Given the description of an element on the screen output the (x, y) to click on. 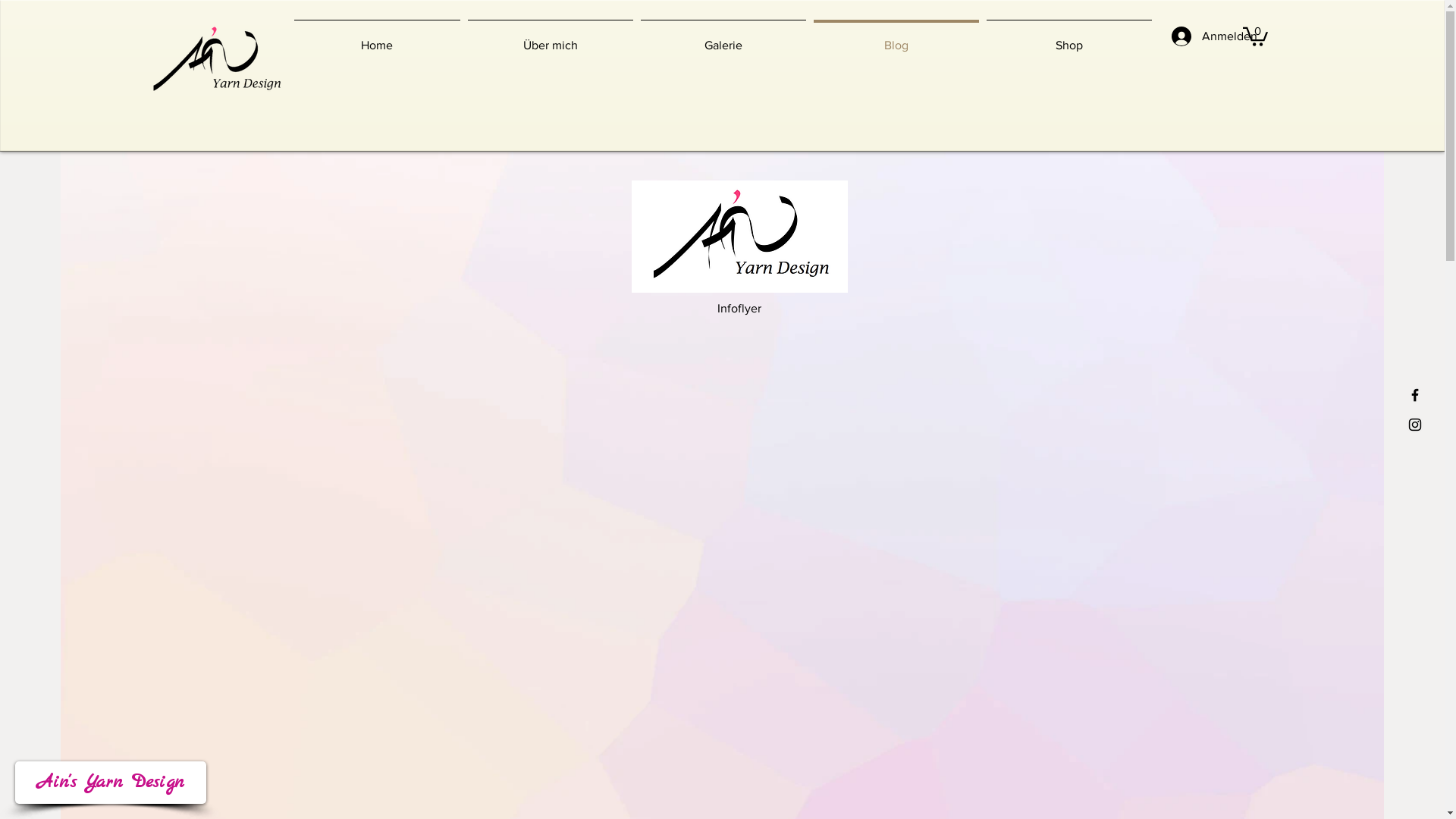
Anmelden Element type: text (1205, 35)
Home Element type: text (376, 38)
Shop Element type: text (1068, 38)
Galerie Element type: text (723, 38)
0 Element type: text (1254, 35)
Infoflyer Element type: text (739, 246)
Ain's Yarn Design Element type: text (110, 782)
Blog Element type: text (895, 38)
